Given the description of an element on the screen output the (x, y) to click on. 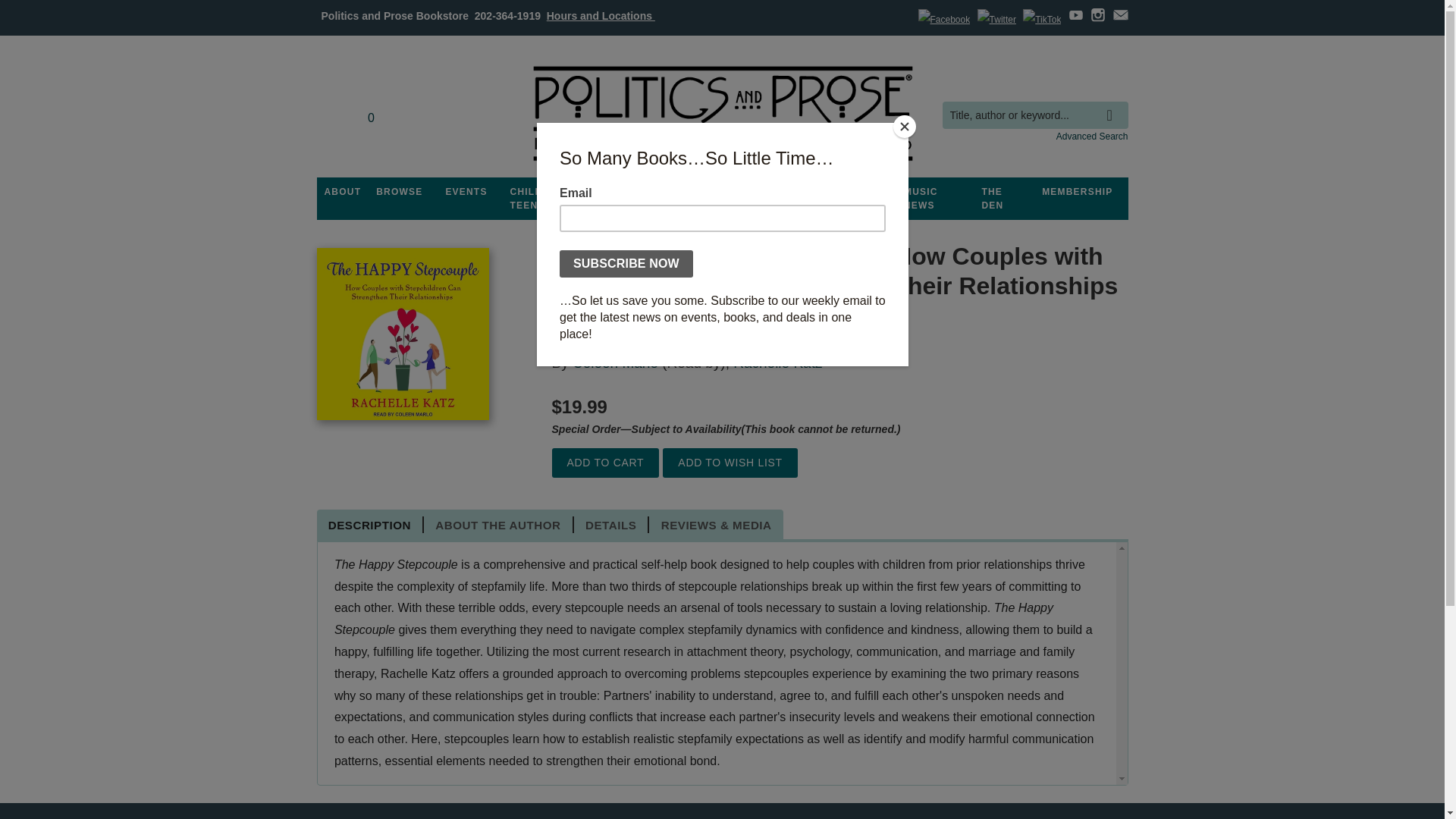
Hours and Locations  (601, 15)
See our event calendar (465, 191)
See our store ours and locations (601, 15)
Add to Wish List (729, 462)
PROGRAMS (633, 191)
Children and Teens Department (548, 198)
Browse our shelves (398, 191)
Home (721, 114)
SERVICES (808, 191)
SUBSCRIPTIONS (722, 191)
EVENTS (465, 191)
Advanced Search (1092, 136)
Add to Cart (605, 462)
See information about our programs (633, 191)
ABOUT (343, 191)
